Given the description of an element on the screen output the (x, y) to click on. 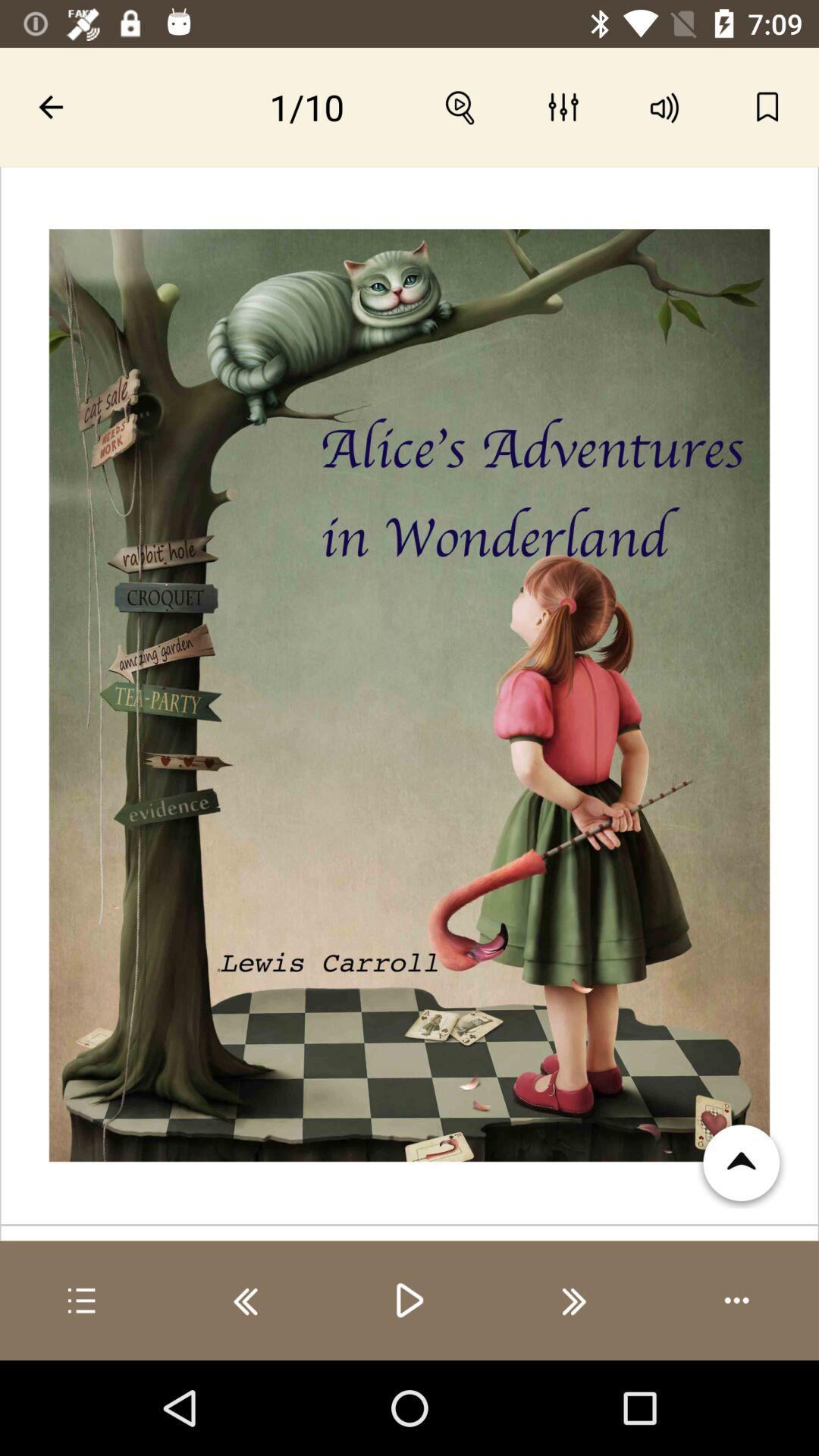
switch autoplay option (737, 1300)
